Given the description of an element on the screen output the (x, y) to click on. 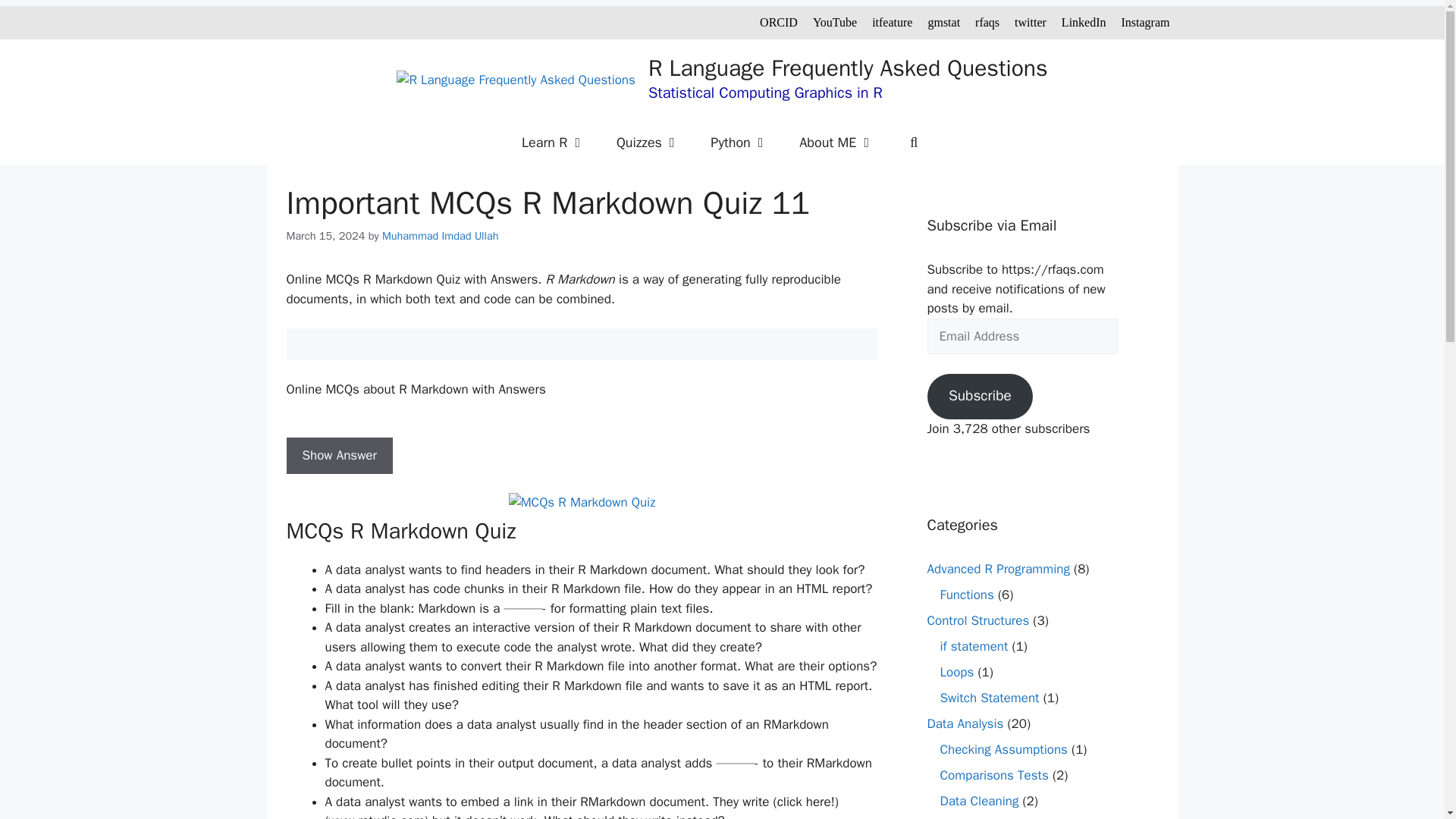
ORCID (778, 21)
Muhammad Imdad Ullah (440, 235)
gmstat (943, 21)
YouTube (834, 21)
Instagram (1145, 21)
itfeature (892, 21)
twitter (1030, 21)
R Language Frequently Asked Questions (847, 68)
LinkedIn (1083, 21)
rfaqs (986, 21)
Python (739, 142)
Quizzes (648, 142)
About ME (836, 142)
